Given the description of an element on the screen output the (x, y) to click on. 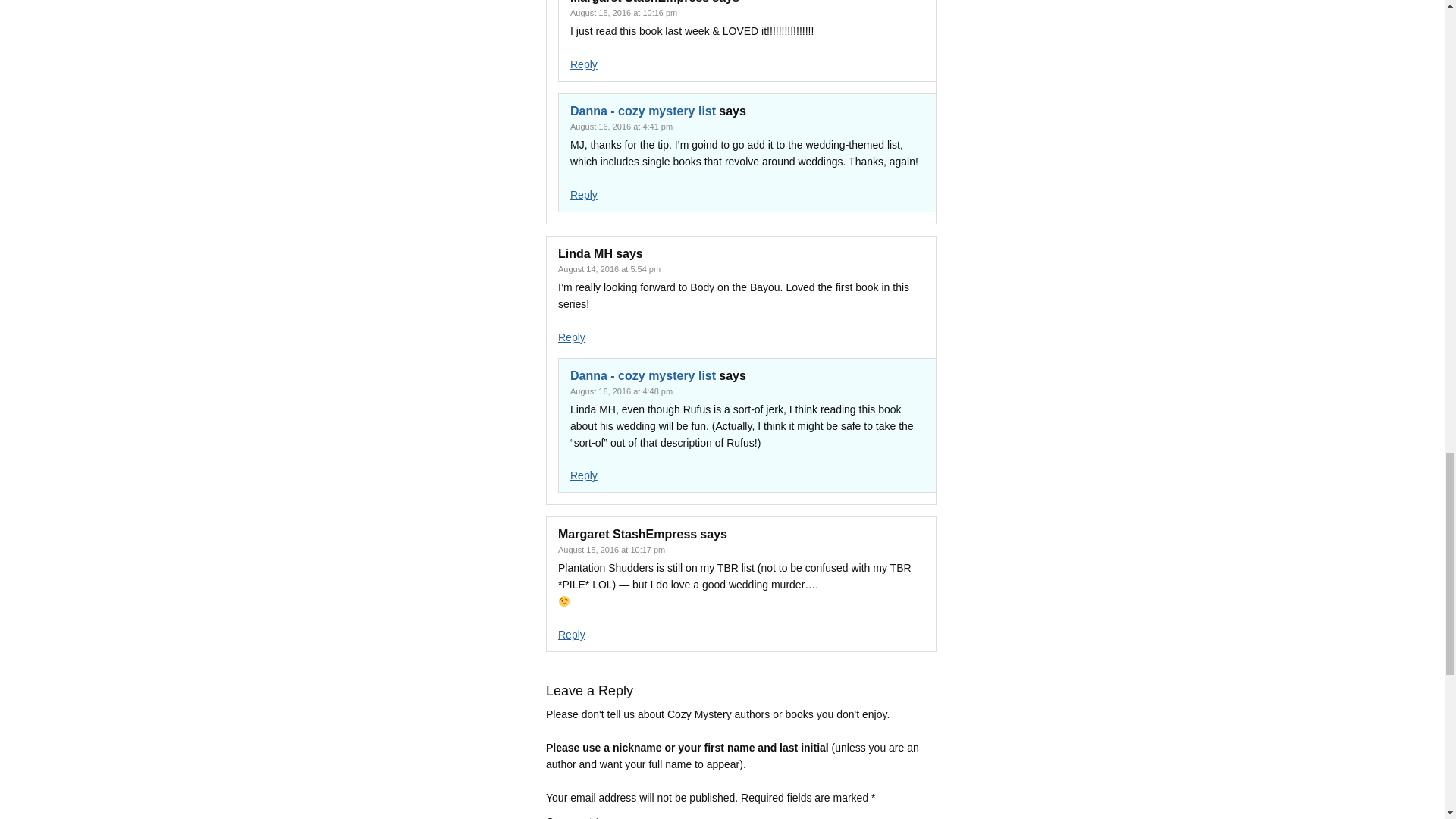
Reply (571, 634)
Reply (583, 475)
August 16, 2016 at 4:48 pm (621, 390)
Danna - cozy mystery list (643, 110)
Danna - cozy mystery list (643, 375)
Reply (571, 337)
Reply (583, 64)
Reply (583, 194)
August 15, 2016 at 10:16 pm (623, 12)
August 14, 2016 at 5:54 pm (609, 268)
August 16, 2016 at 4:41 pm (621, 126)
August 15, 2016 at 10:17 pm (611, 549)
